Given the description of an element on the screen output the (x, y) to click on. 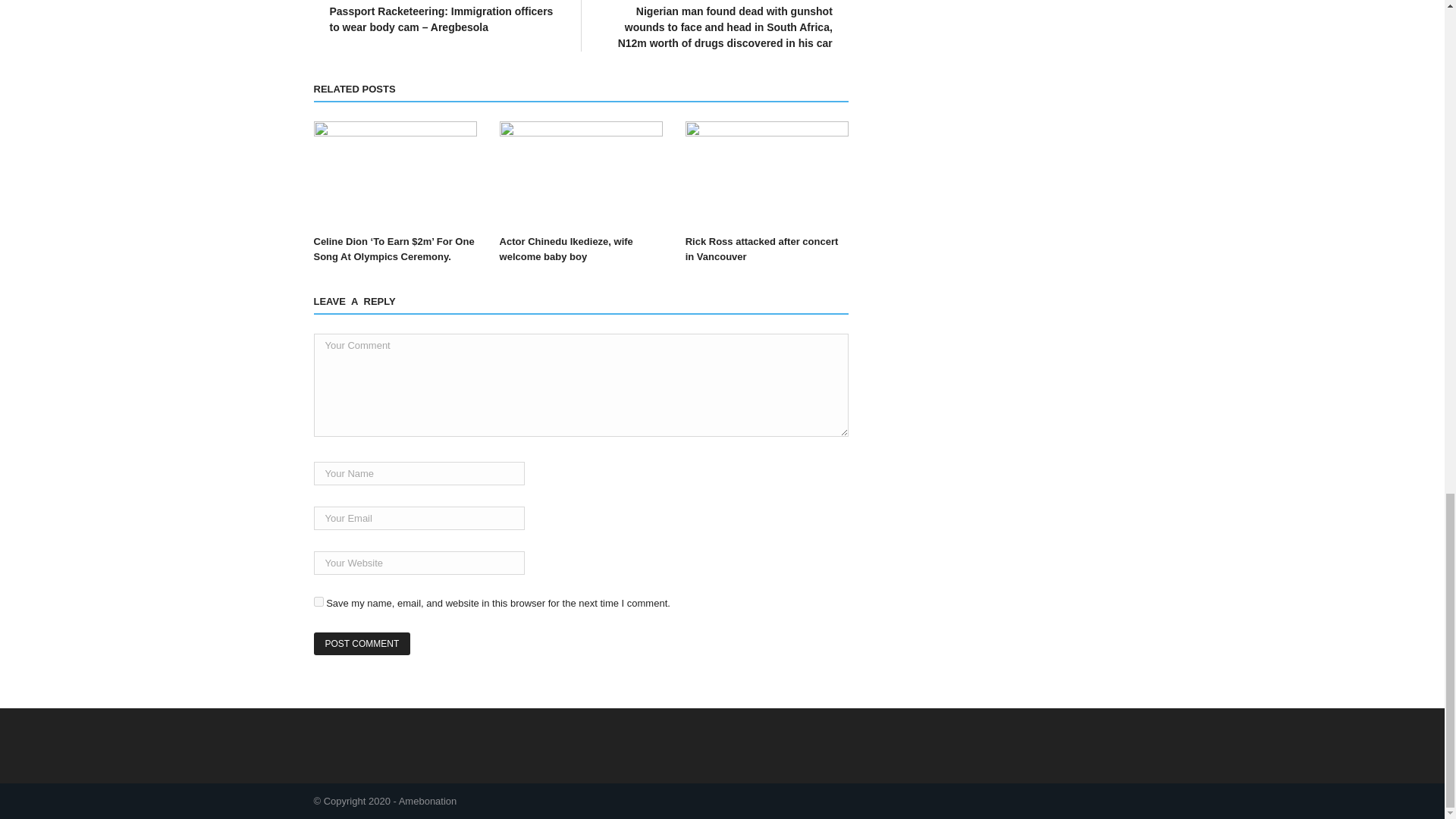
yes (318, 601)
Post Comment (362, 643)
